Given the description of an element on the screen output the (x, y) to click on. 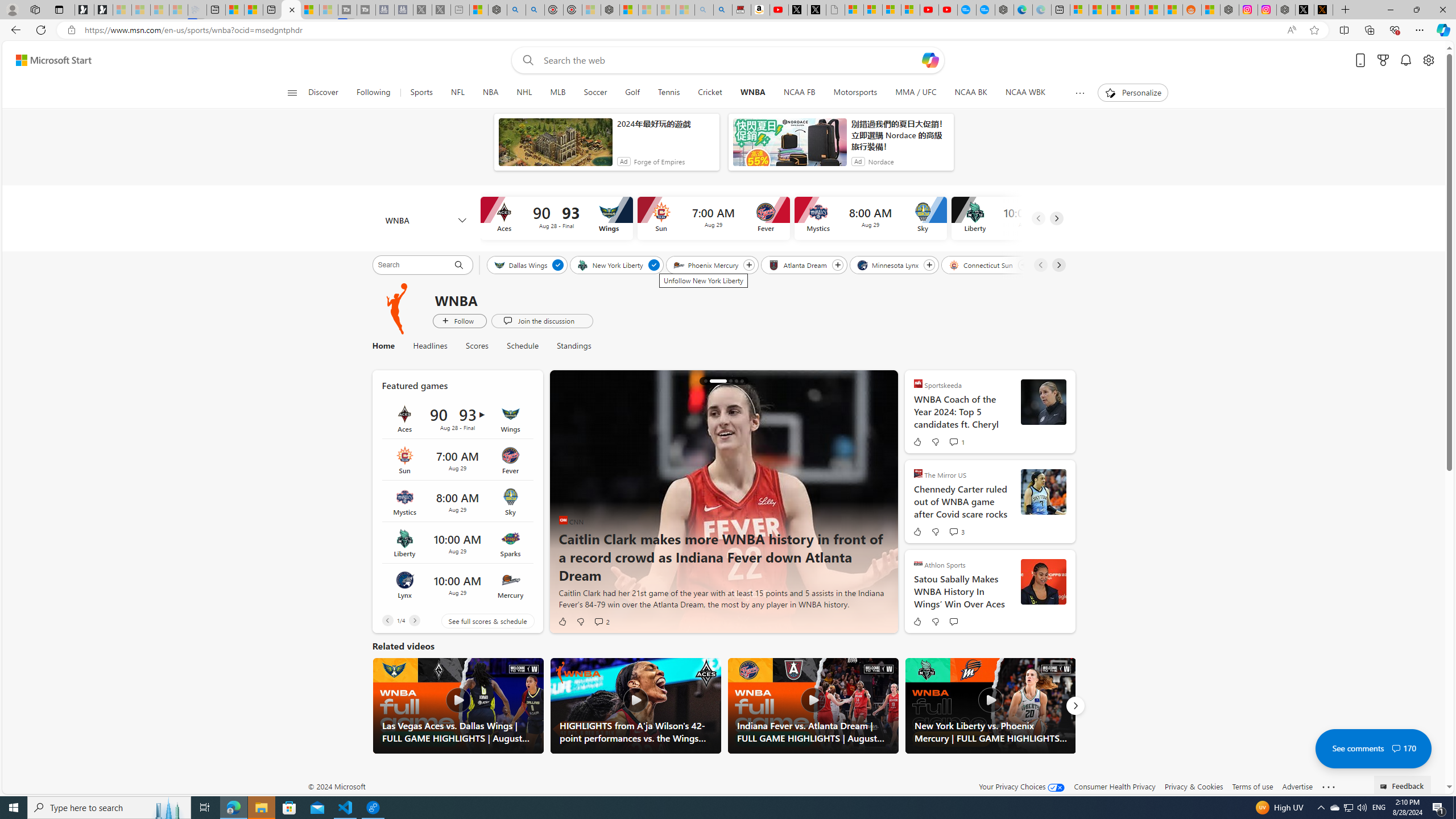
Headlines (429, 345)
Phoenix Mercury (705, 264)
Open navigation menu (292, 92)
Gloom - YouTube (929, 9)
Standings (569, 345)
Wildlife - MSN (478, 9)
Microsoft account | Microsoft Account Privacy Settings (1079, 9)
Sports (421, 92)
NBA (490, 92)
Scores (477, 345)
poe - Search (515, 9)
Cricket (709, 92)
